Given the description of an element on the screen output the (x, y) to click on. 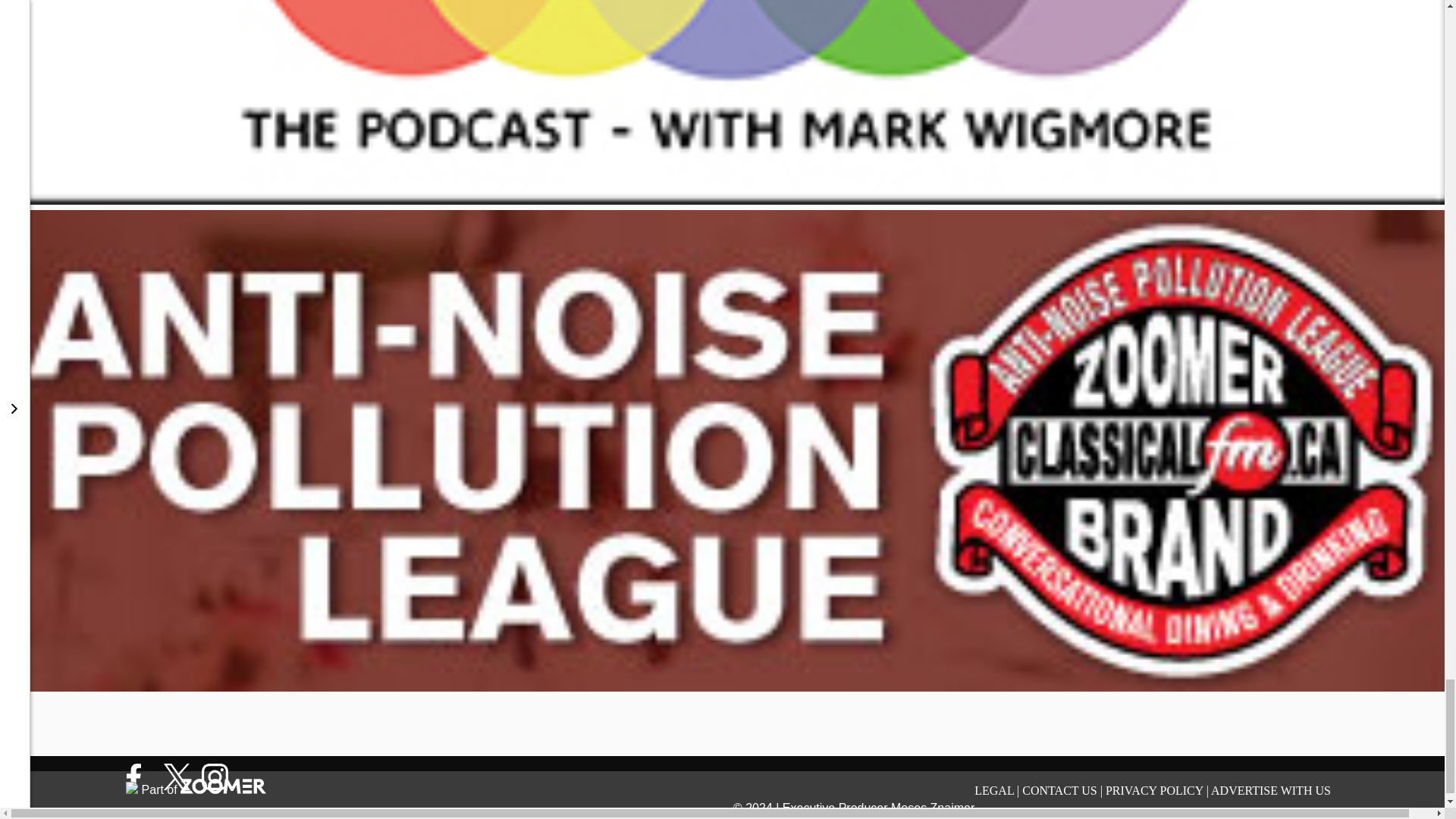
ADVERTISE WITH US (1270, 789)
CONTACT US (1059, 789)
LEGAL (993, 789)
PRIVACY POLICY (1154, 789)
